Given the description of an element on the screen output the (x, y) to click on. 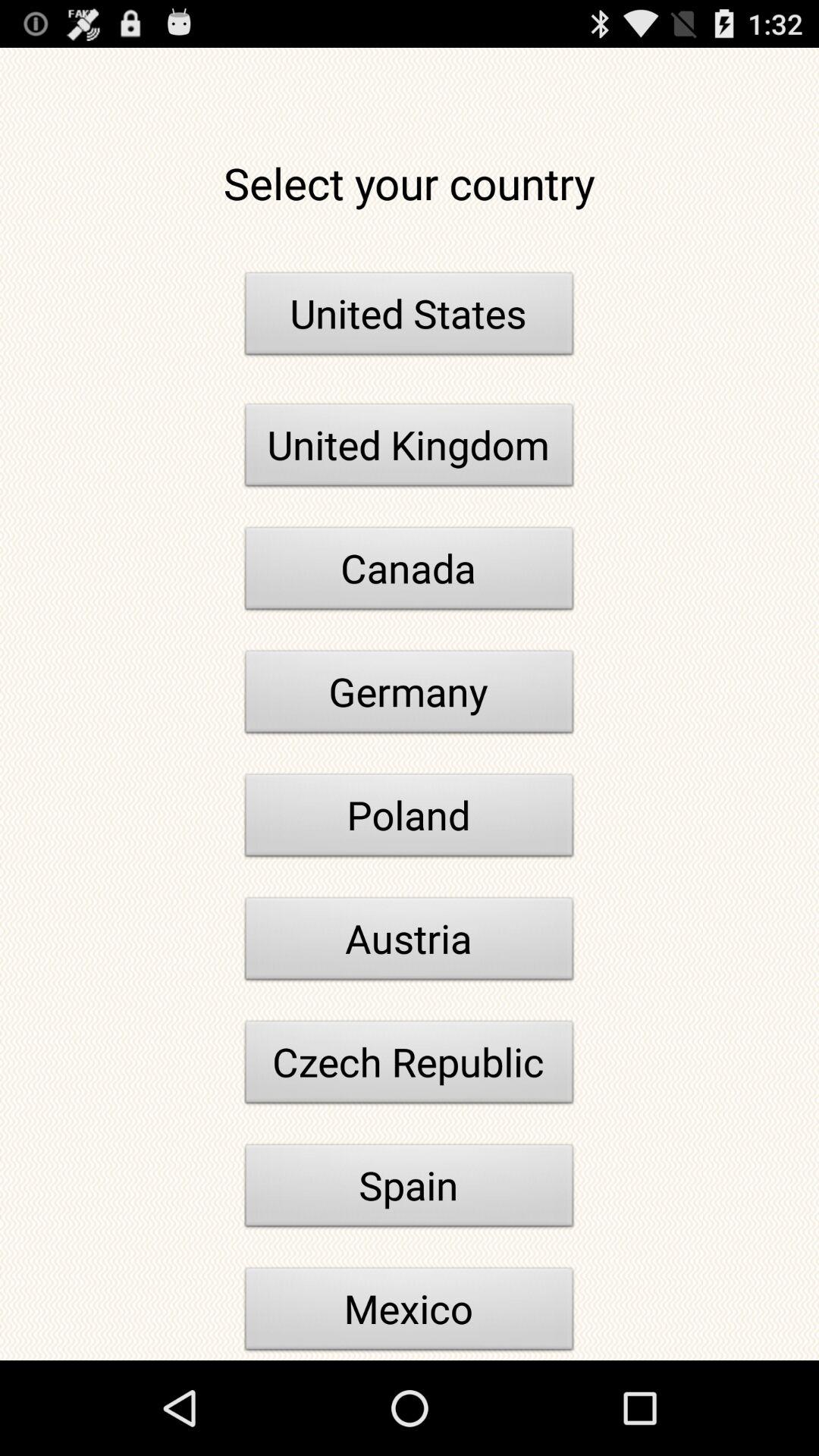
tap the button above united kingdom item (409, 317)
